Given the description of an element on the screen output the (x, y) to click on. 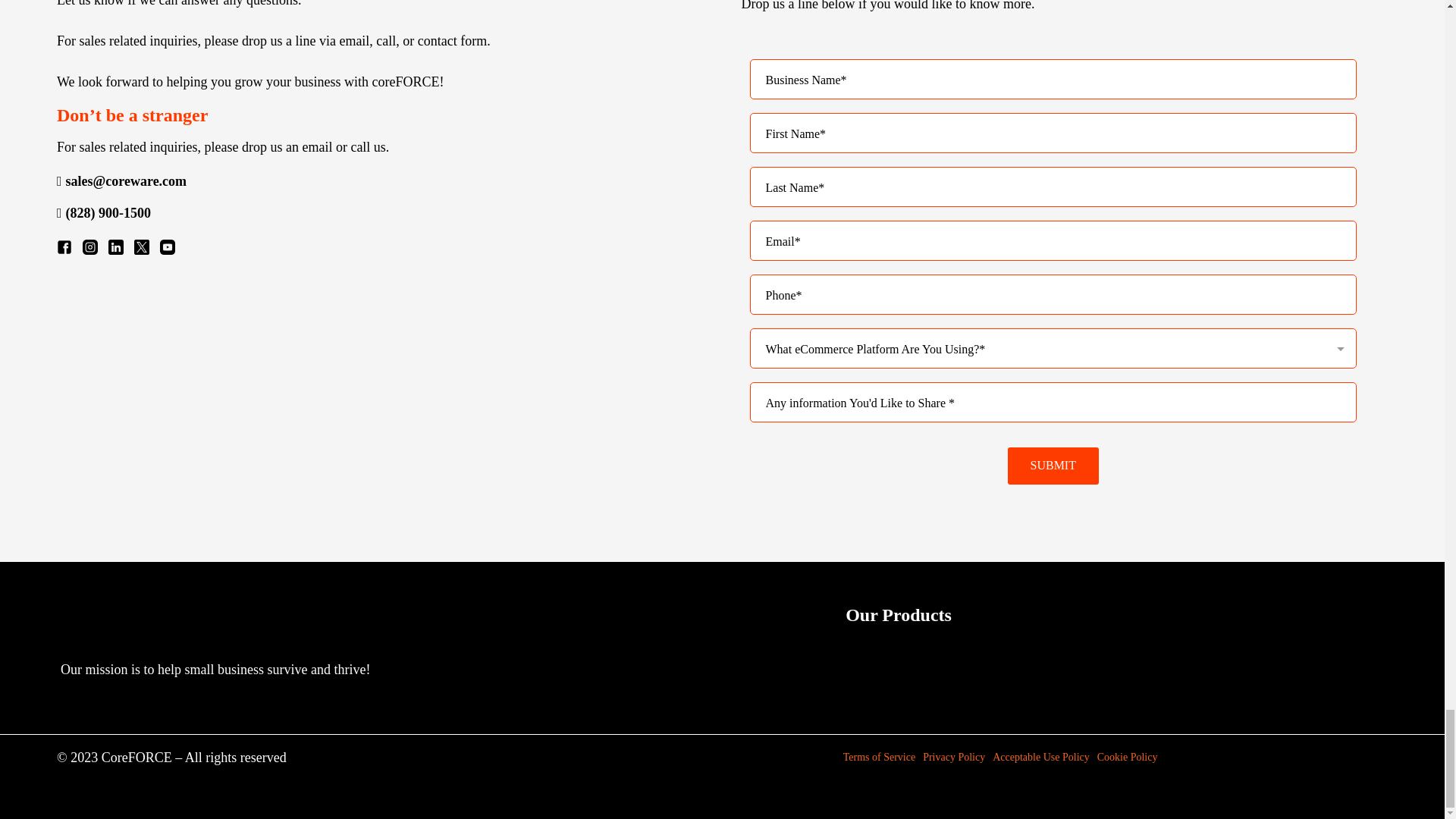
SUBMIT (1053, 465)
Cookie Policy (1127, 757)
Acceptable Use Policy (1040, 757)
Privacy Policy (953, 757)
Terms of Service (879, 757)
